Given the description of an element on the screen output the (x, y) to click on. 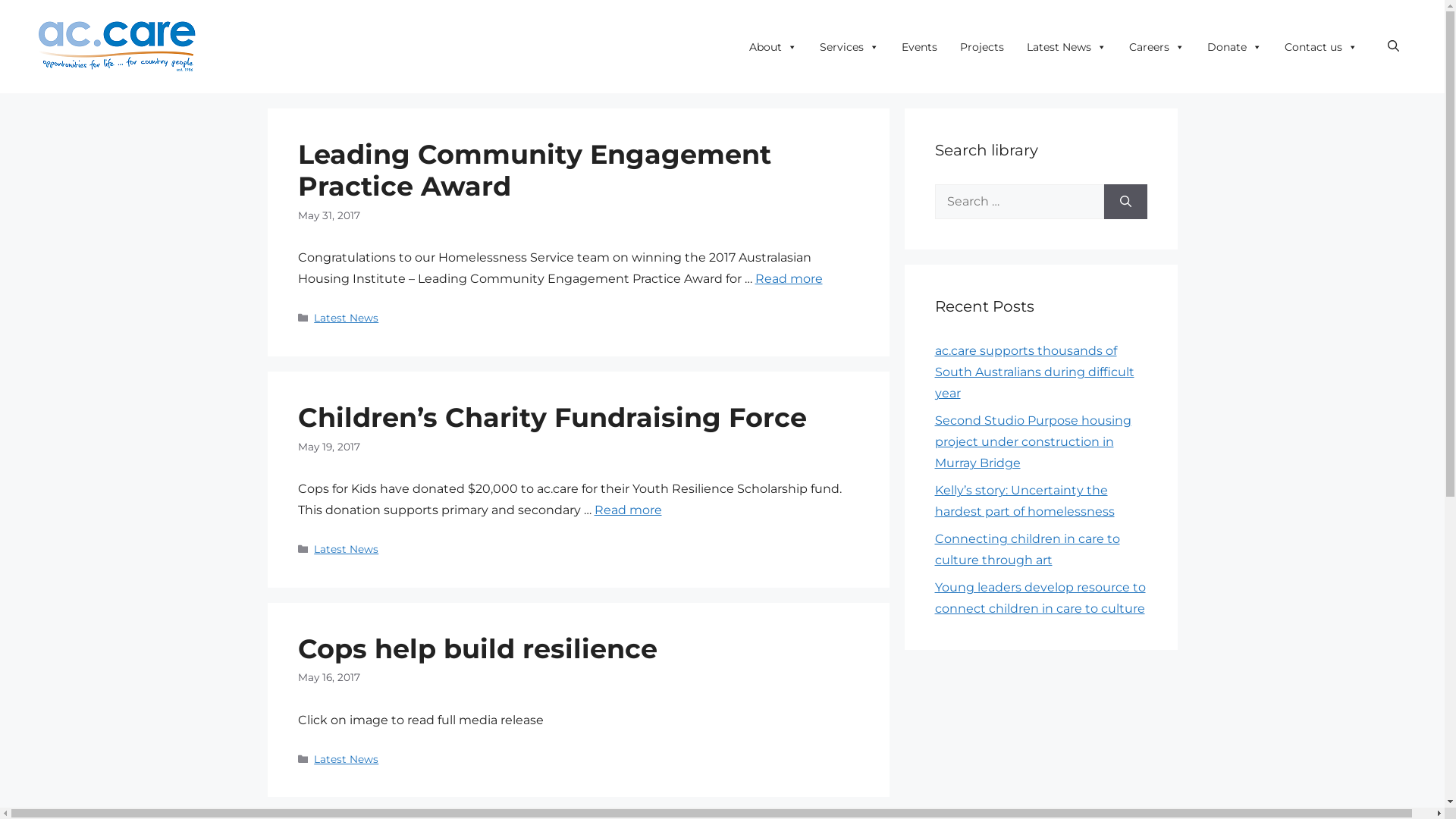
Careers Element type: text (1156, 46)
Cops help build resilience Element type: text (476, 648)
Read more Element type: text (788, 278)
Leading Community Engagement Practice Award Element type: text (533, 170)
ac.care Element type: hover (117, 45)
Services Element type: text (849, 46)
Latest News Element type: text (345, 759)
Latest News Element type: text (345, 317)
Read more Element type: text (628, 509)
Latest News Element type: text (1066, 46)
About Element type: text (772, 46)
Connecting children in care to culture through art Element type: text (1026, 549)
Donate Element type: text (1234, 46)
Events Element type: text (919, 46)
Search for: Element type: hover (1018, 201)
Projects Element type: text (981, 46)
ac.care Element type: hover (117, 46)
Contact us Element type: text (1321, 46)
Latest News Element type: text (345, 548)
